Given the description of an element on the screen output the (x, y) to click on. 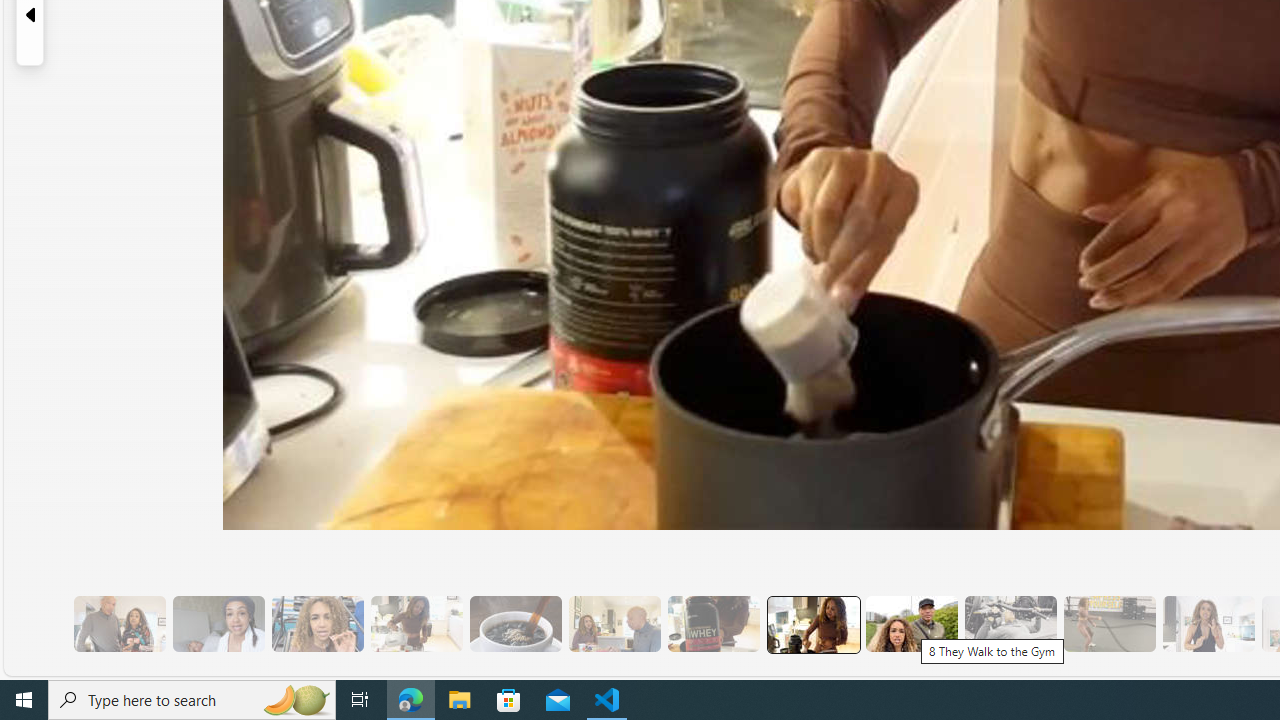
11 They Eat More Protein for Breakfast (1208, 624)
7 They Don't Skip Meals (813, 624)
9 They Do Bench Exercises (1010, 624)
9 They Do Bench Exercises (1010, 624)
8 They Walk to the Gym (911, 624)
8 Be Mindful of Coffee (514, 624)
8 Be Mindful of Coffee (514, 624)
11 They Eat More Protein for Breakfast (1208, 624)
2 They Use Protein Powder for Flavor (317, 624)
